Given the description of an element on the screen output the (x, y) to click on. 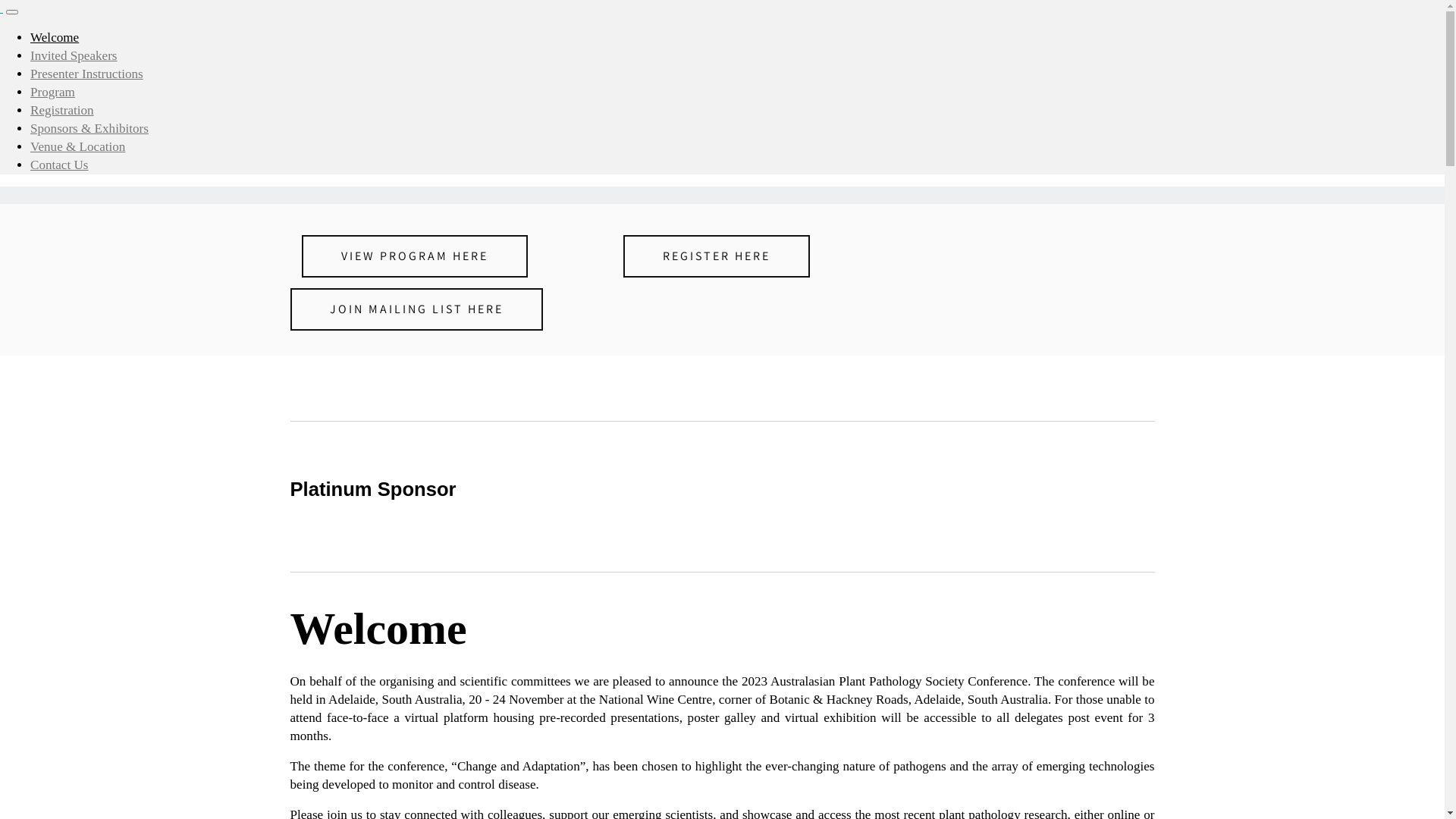
Welcome Element type: text (54, 37)
Presenter Instructions Element type: text (86, 73)
Contact Us Element type: text (59, 164)
REGISTER HERE Element type: text (716, 256)
Venue & Location Element type: text (77, 146)
Invited Speakers Element type: text (73, 55)
JOIN MAILING LIST HERE Element type: text (415, 309)
Sponsors & Exhibitors Element type: text (89, 128)
Registration Element type: text (62, 110)
Program Element type: text (52, 91)
VIEW PROGRAM HERE Element type: text (414, 256)
  Element type: text (1, 7)
